Given the description of an element on the screen output the (x, y) to click on. 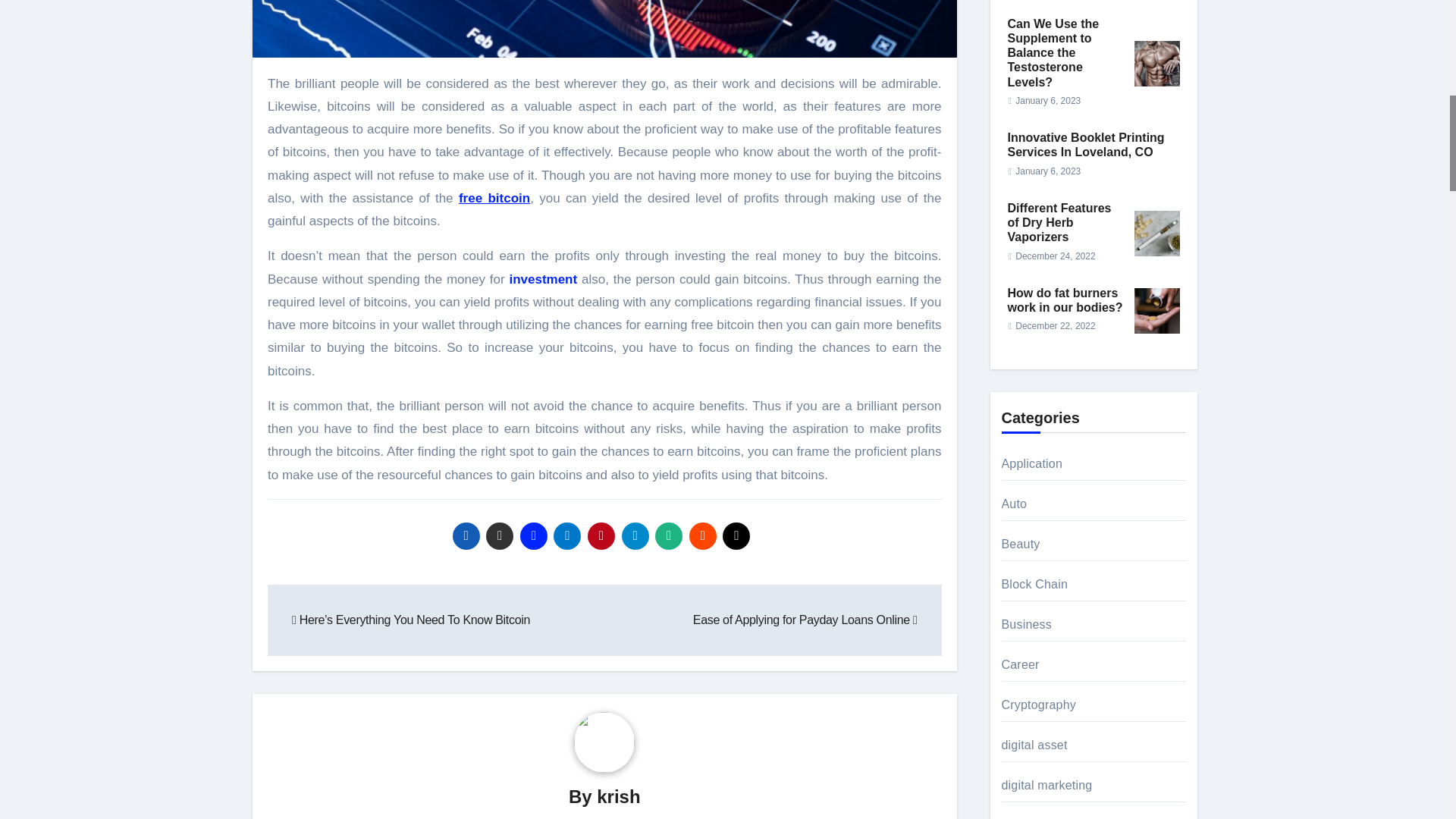
Ease of Applying for Payday Loans Online (805, 619)
free bitcoin (493, 197)
investment (542, 278)
krish (618, 796)
